Given the description of an element on the screen output the (x, y) to click on. 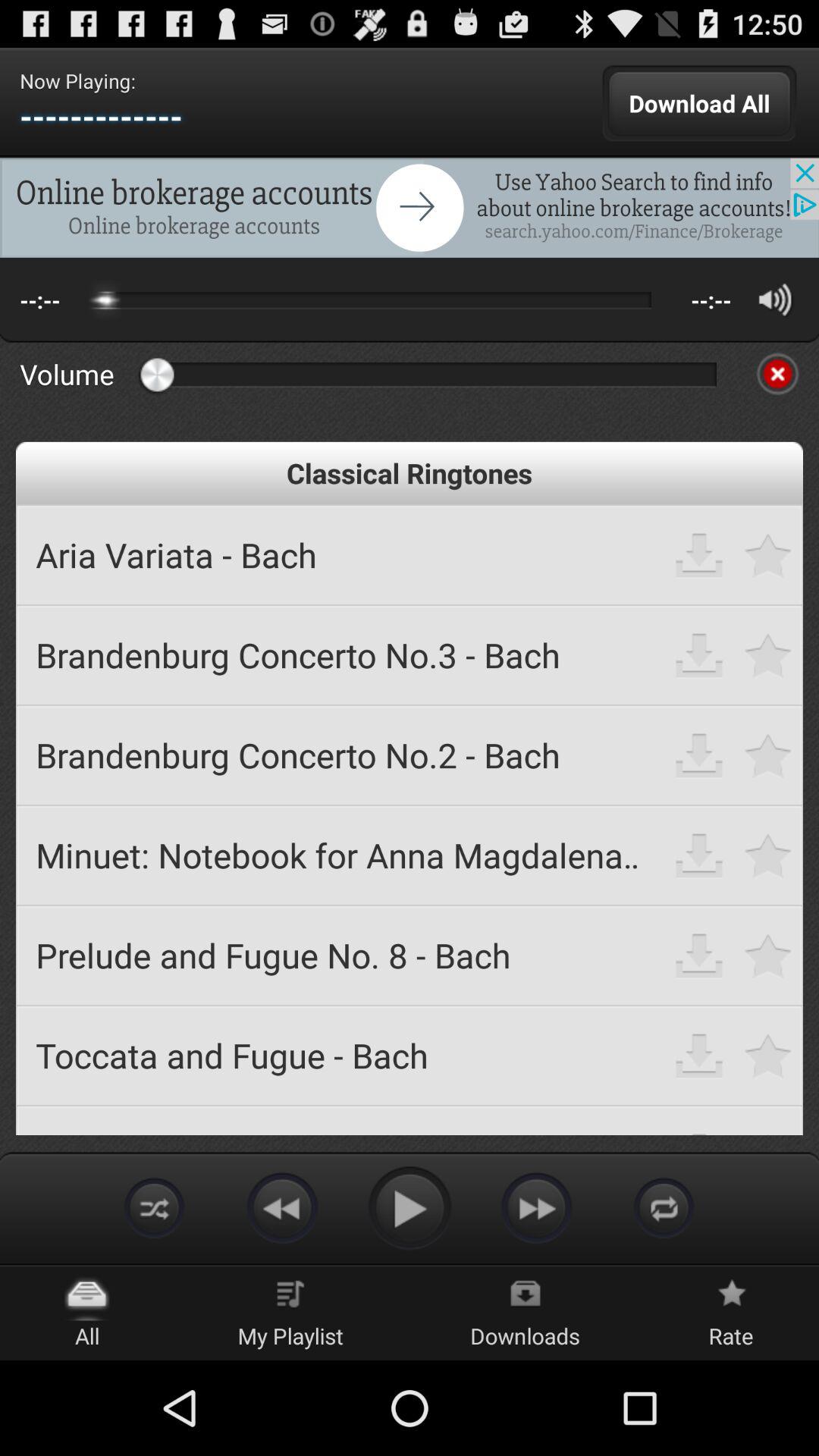
rewind to last track (281, 1207)
